Given the description of an element on the screen output the (x, y) to click on. 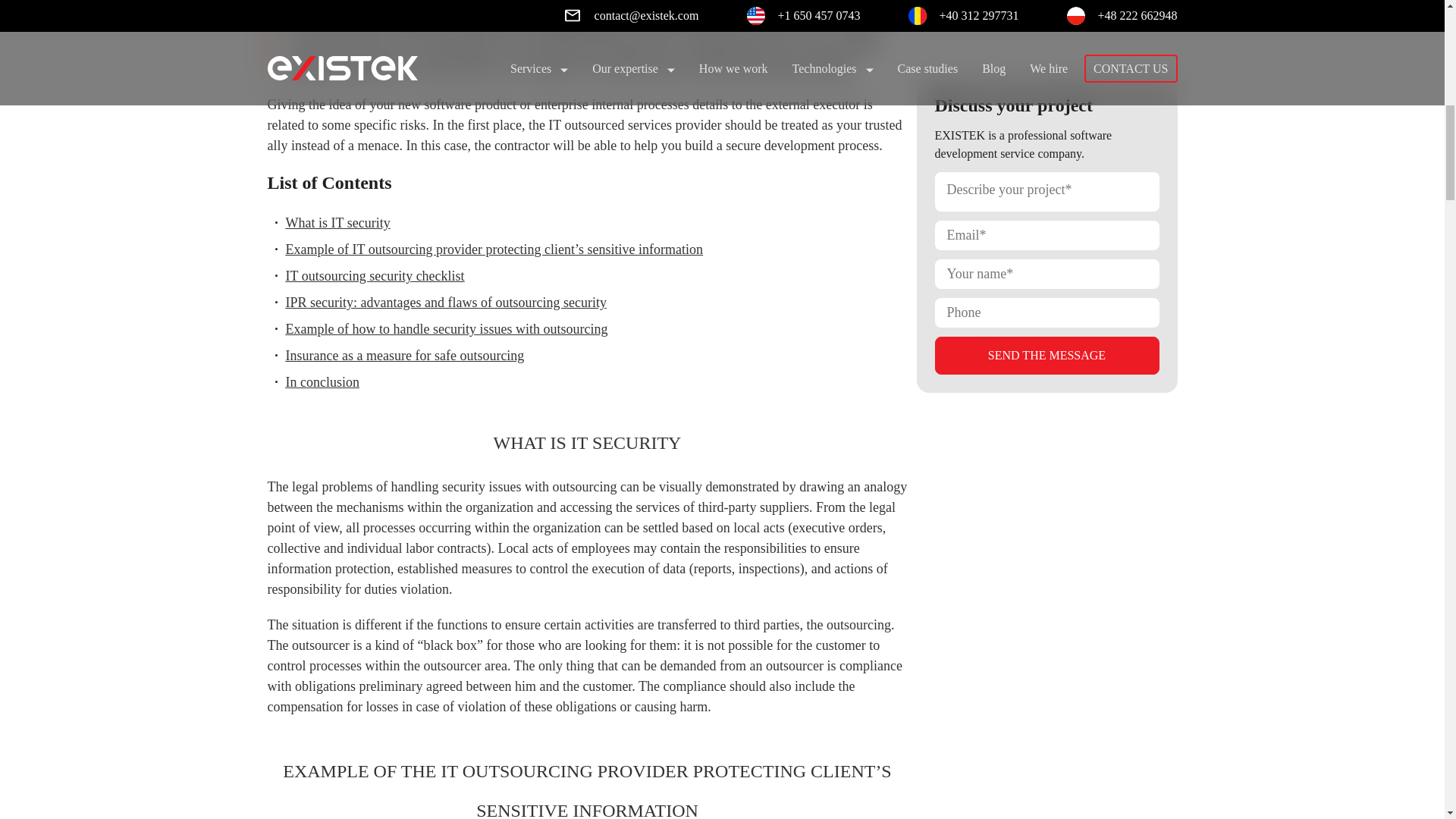
IPR security: advantages and flaws of outsourcing security (445, 302)
IT outsourcing security checklist (374, 276)
What is IT security (337, 222)
